Given the description of an element on the screen output the (x, y) to click on. 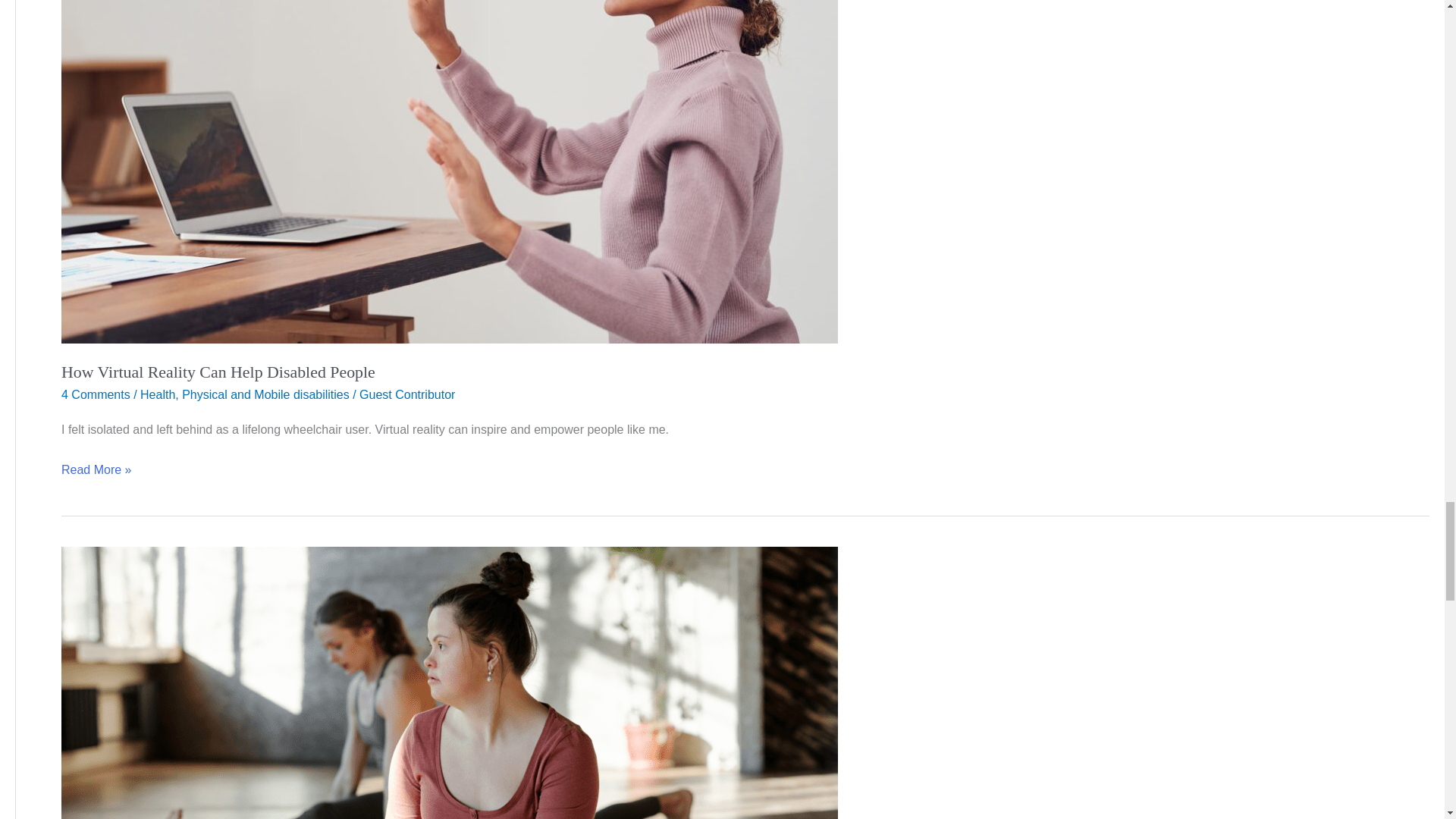
View all posts by Guest Contributor (406, 394)
